Given the description of an element on the screen output the (x, y) to click on. 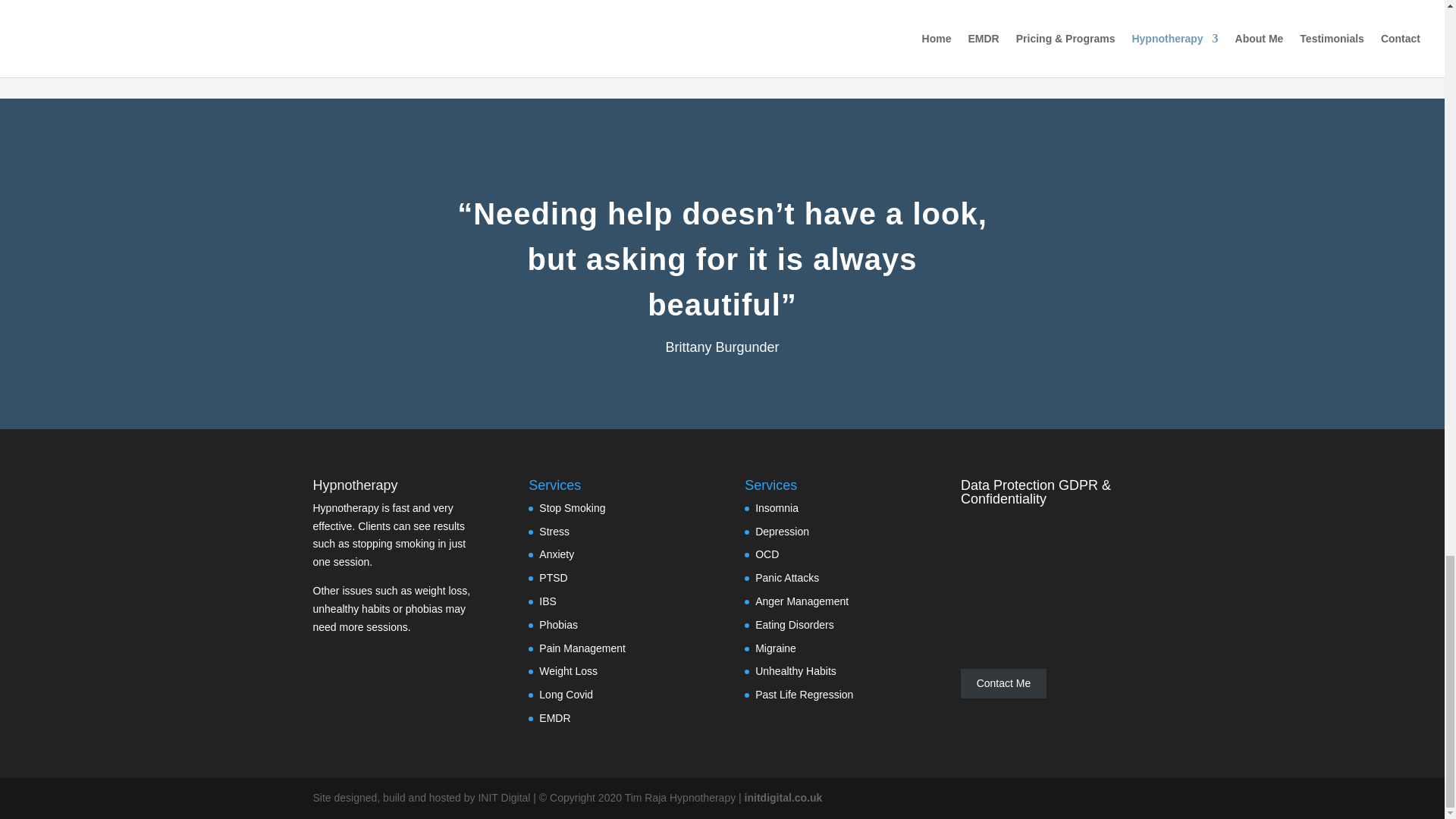
Professional Hypnotherapy Practitioners Association Logo (433, 11)
General Hypnotherapy Register Logo (1009, 18)
Contact Me (1003, 683)
initdigital.co.uk (783, 797)
